Given the description of an element on the screen output the (x, y) to click on. 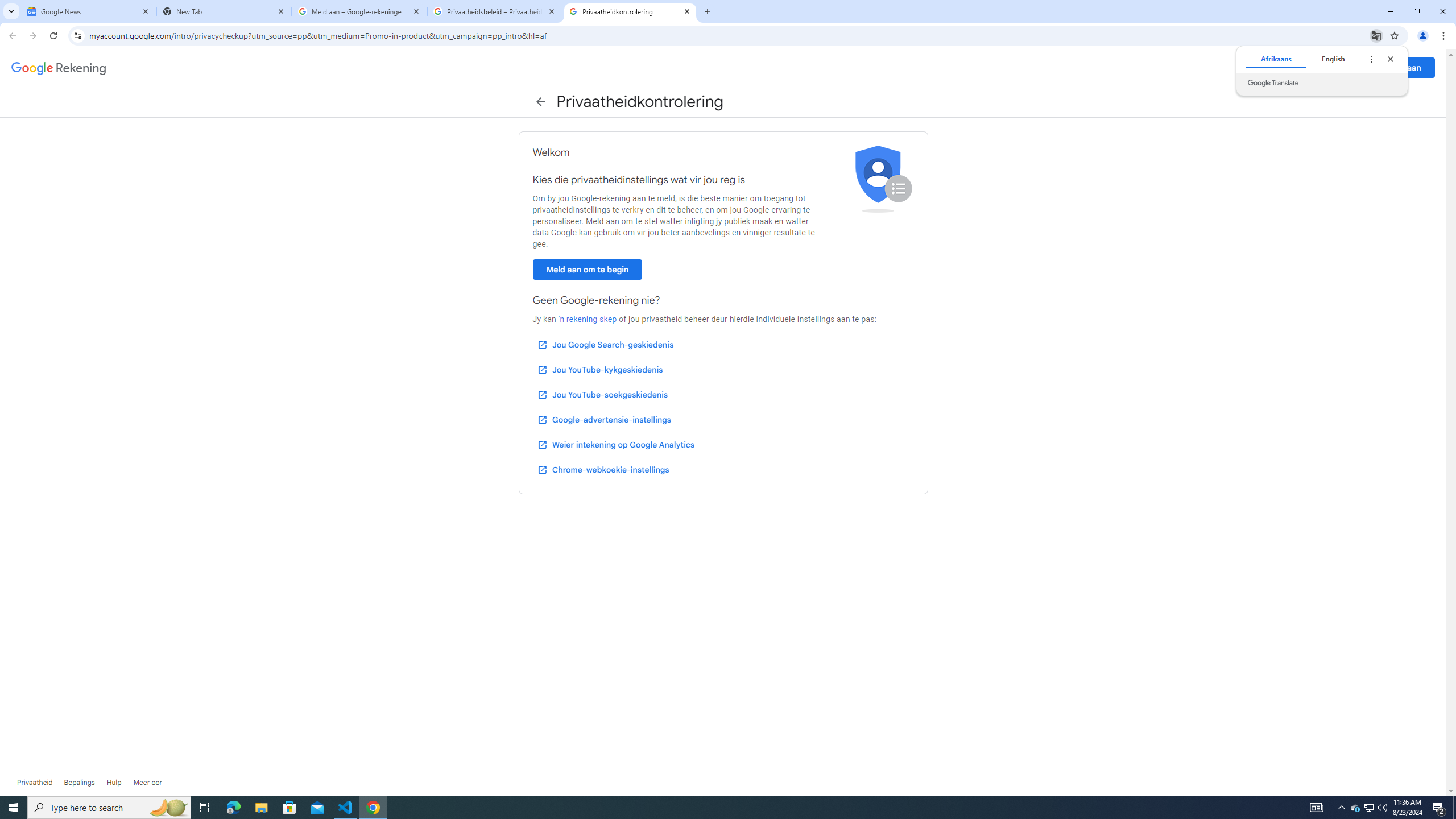
'n rekening skep (587, 319)
New Tab (224, 11)
Privaatheid (34, 782)
Jou YouTube-soekgeskiedenis (602, 394)
Bepalings (79, 782)
Google Rekening-instellings (58, 68)
Kom meer te wete oor Google-rekening (148, 782)
Terug (540, 101)
Google News (88, 11)
